Given the description of an element on the screen output the (x, y) to click on. 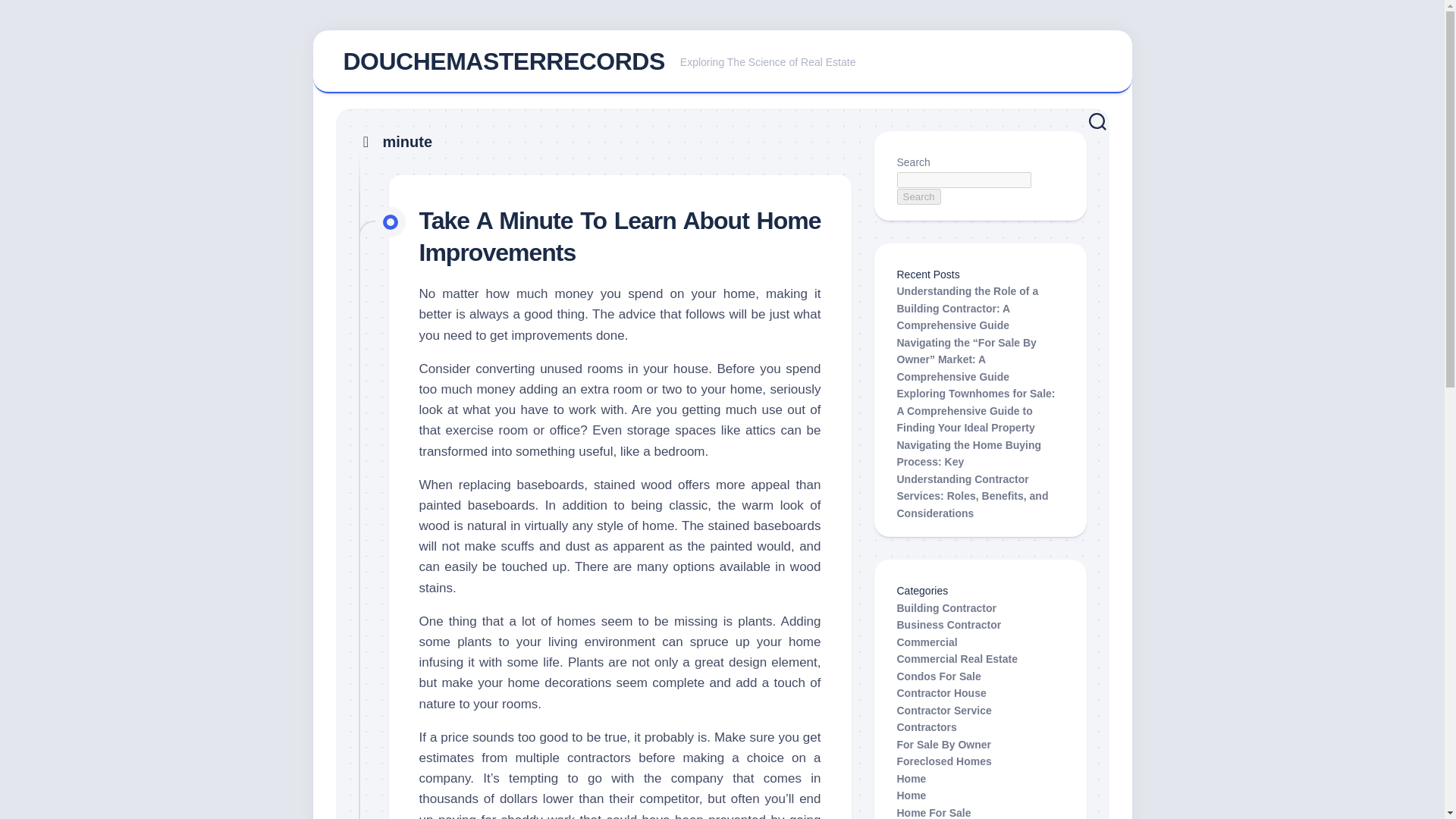
Home (911, 795)
Contractor Service (943, 709)
Contractor House (940, 693)
Building Contractor (945, 607)
Commercial (926, 641)
Search (918, 196)
Take A Minute To Learn About Home Improvements (620, 236)
DOUCHEMASTERRECORDS (502, 61)
Business Contractor (722, 62)
